Given the description of an element on the screen output the (x, y) to click on. 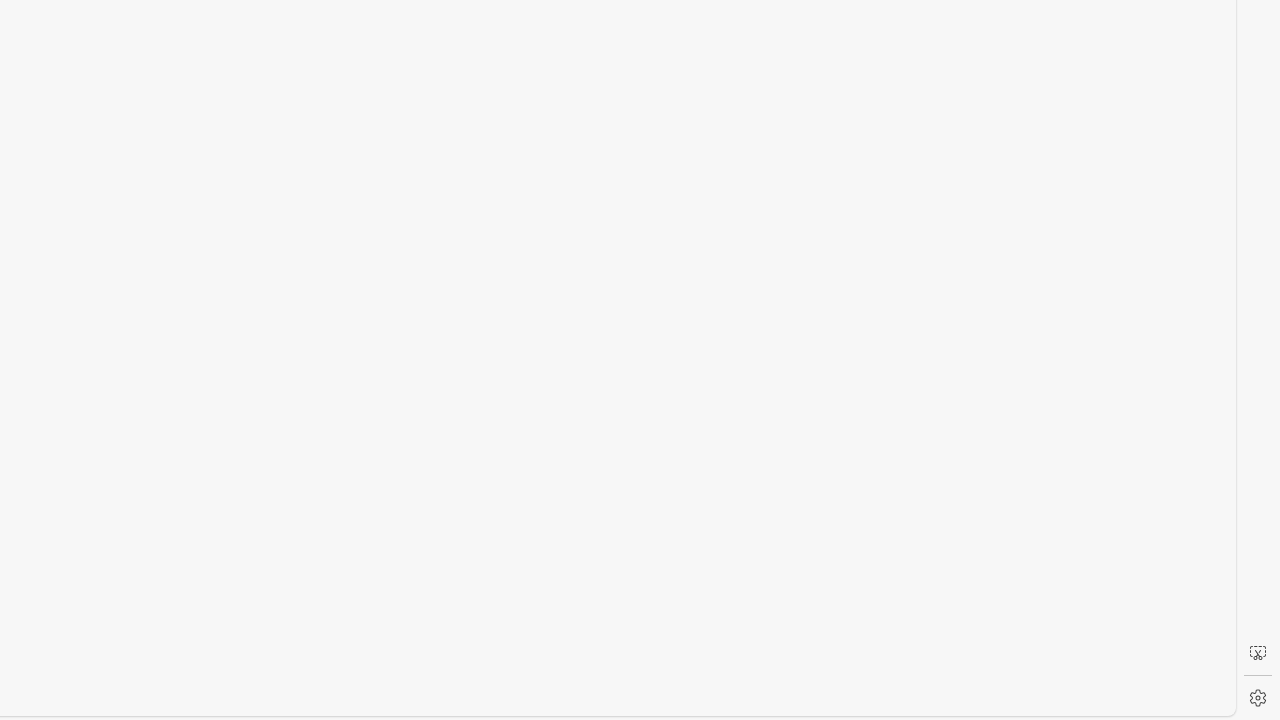
Settings Element type: push-button (1258, 698)
Screenshot Element type: push-button (1258, 653)
